Given the description of an element on the screen output the (x, y) to click on. 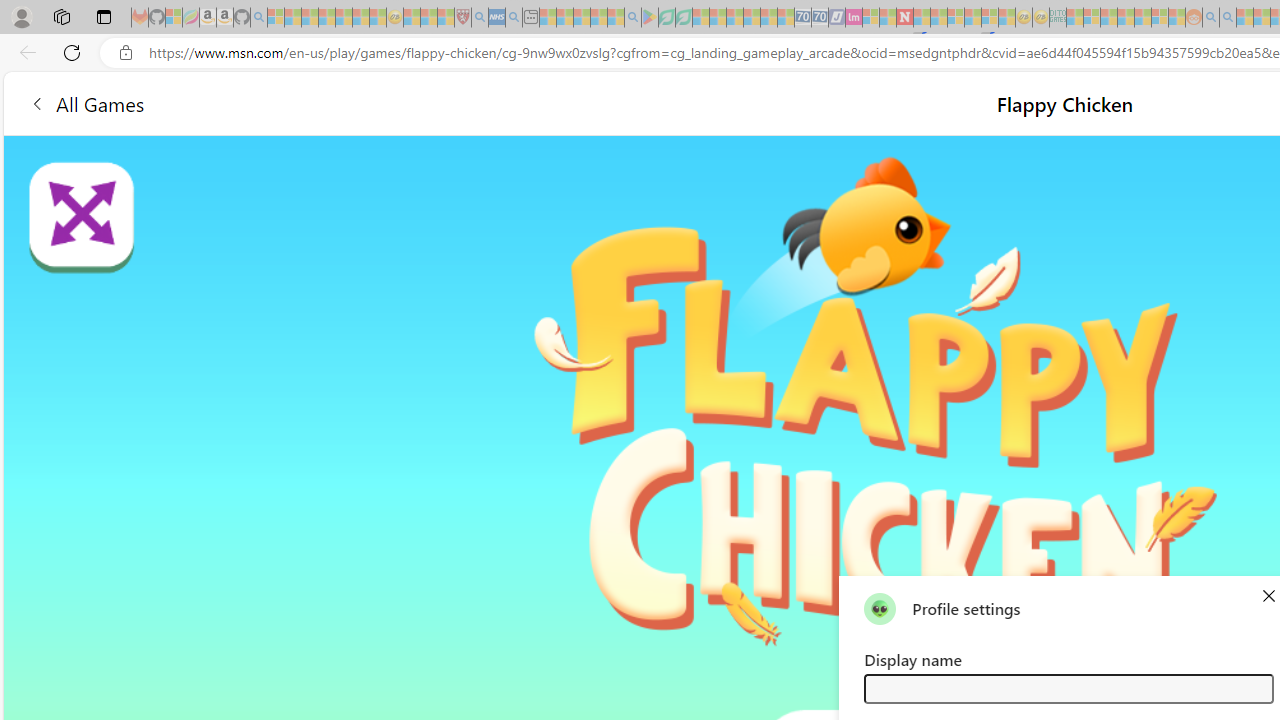
Bluey: Let's Play! - Apps on Google Play - Sleeping (649, 17)
